Given the description of an element on the screen output the (x, y) to click on. 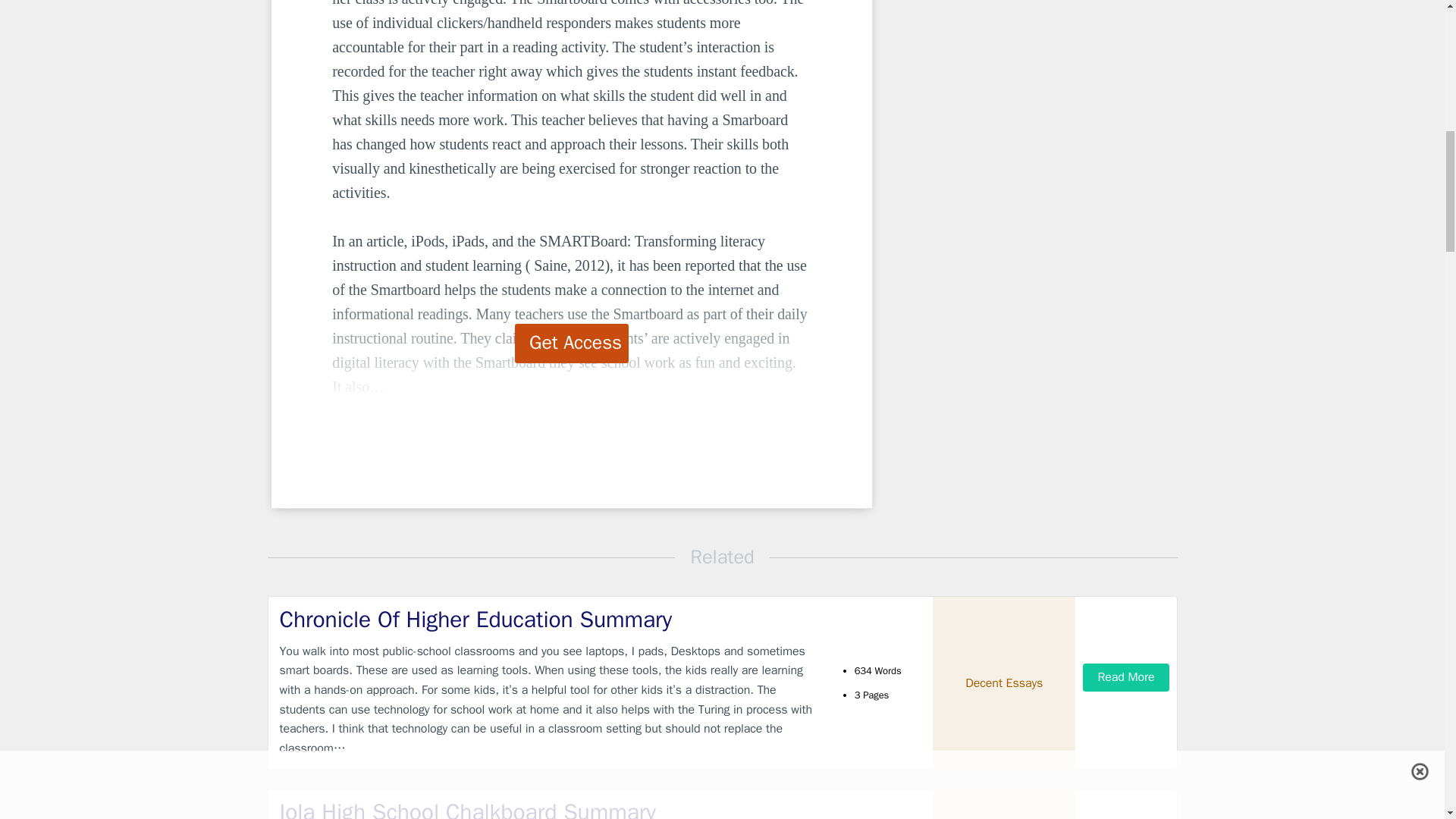
Get Access (571, 343)
Chronicle Of Higher Education Summary (548, 619)
Read More (1126, 677)
Iola High School Chalkboard Summary (548, 807)
